Given the description of an element on the screen output the (x, y) to click on. 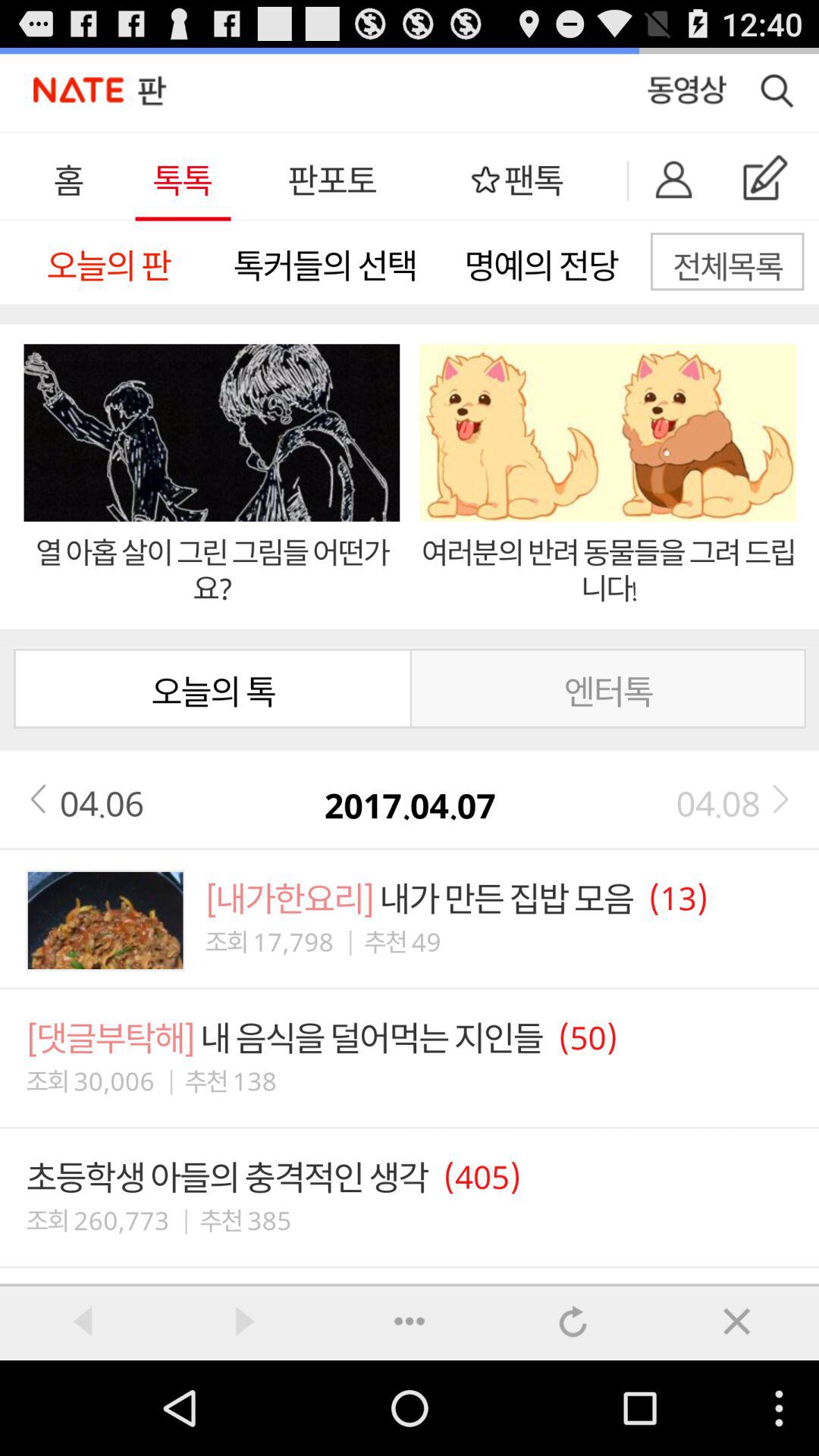
click to get more details (409, 1320)
